Given the description of an element on the screen output the (x, y) to click on. 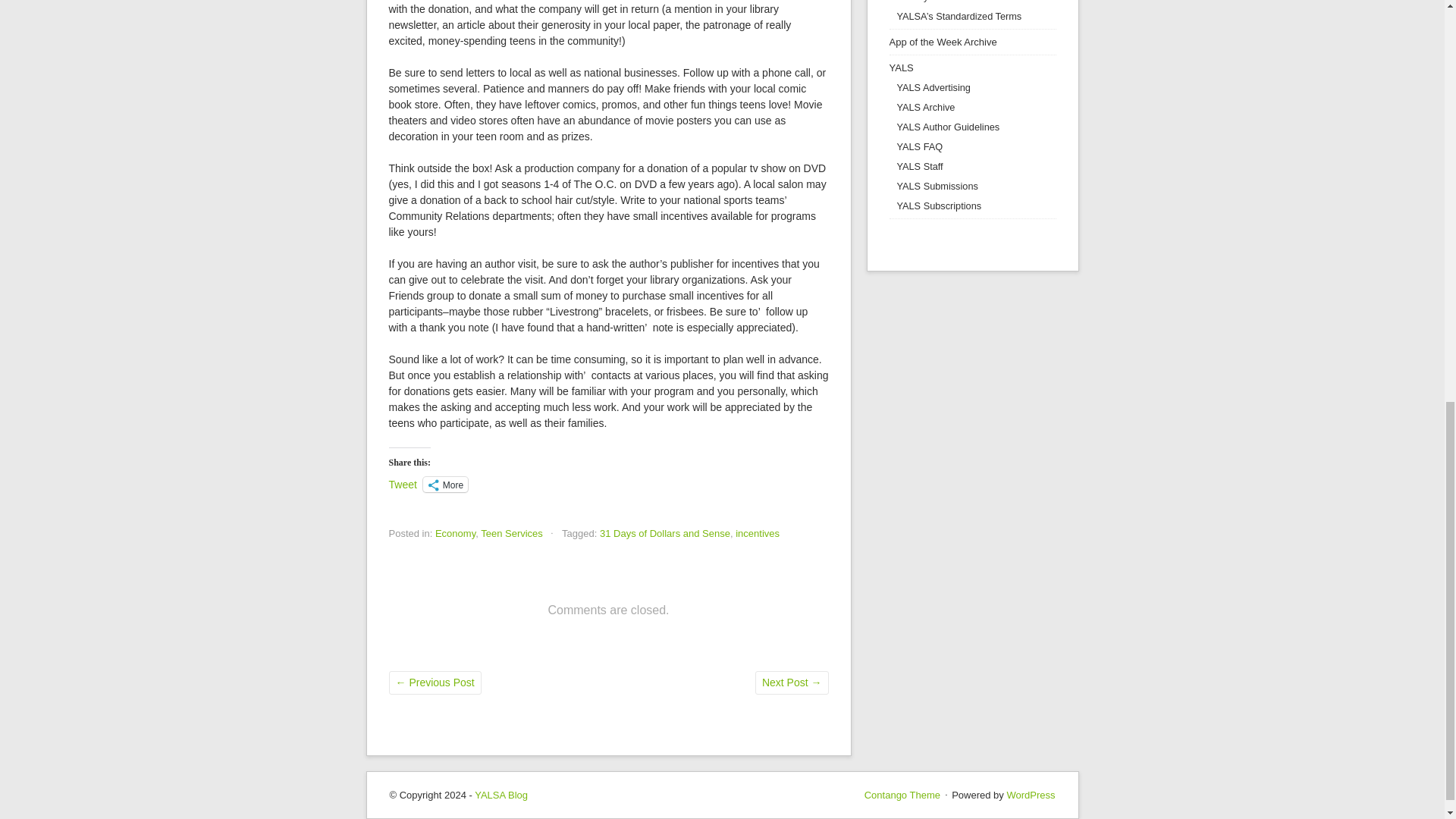
Contango Theme (902, 794)
More (445, 484)
Tweet (402, 483)
Economy (455, 532)
WordPress (1030, 794)
Teen Services (511, 532)
31 Days of Dollars and Sense (664, 532)
incentives (756, 532)
